Given the description of an element on the screen output the (x, y) to click on. 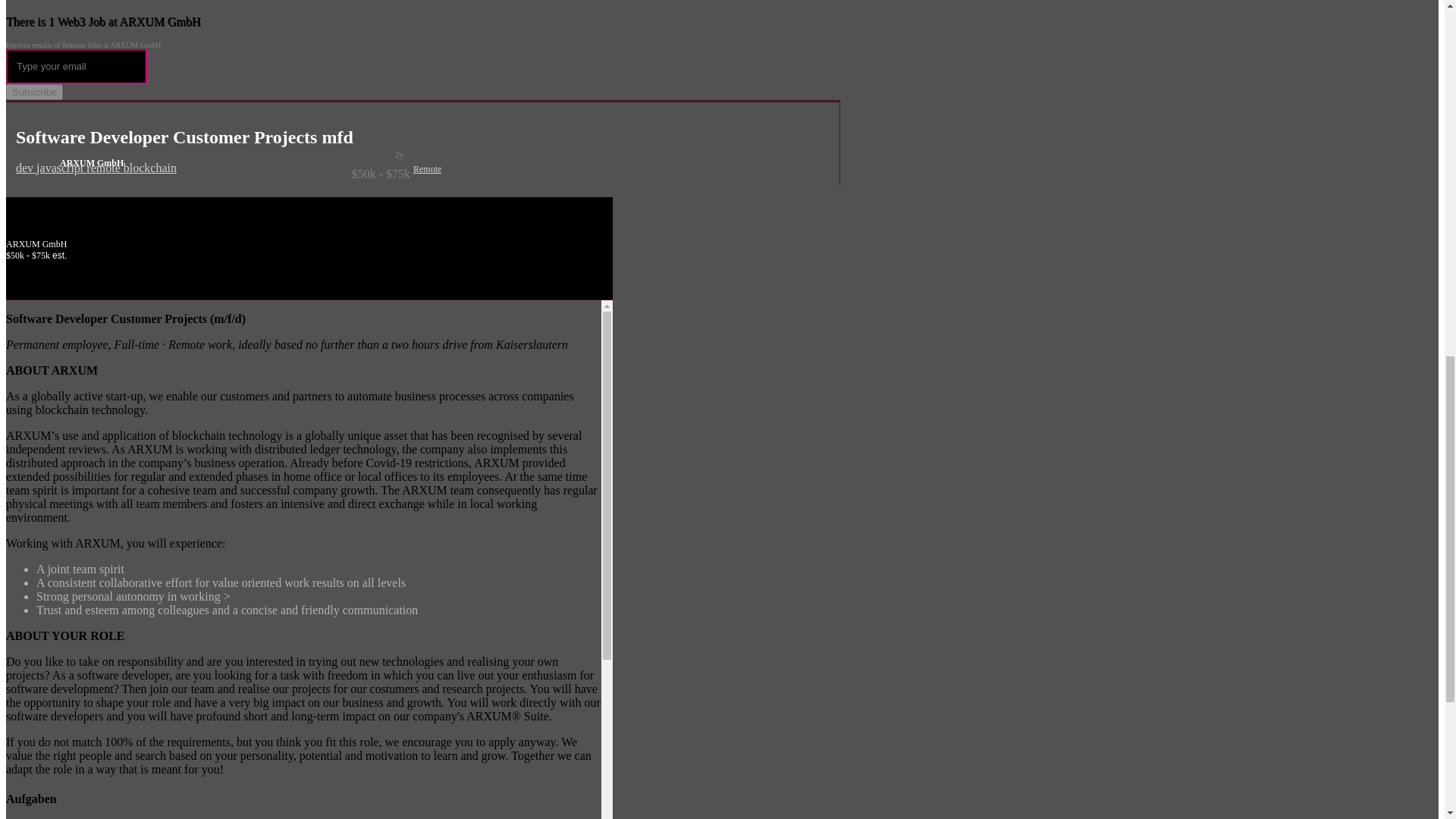
Estimated salary based on similar jobs (213, 173)
Estimated compensation based on similar jobs (308, 255)
Subscribe (33, 91)
